Given the description of an element on the screen output the (x, y) to click on. 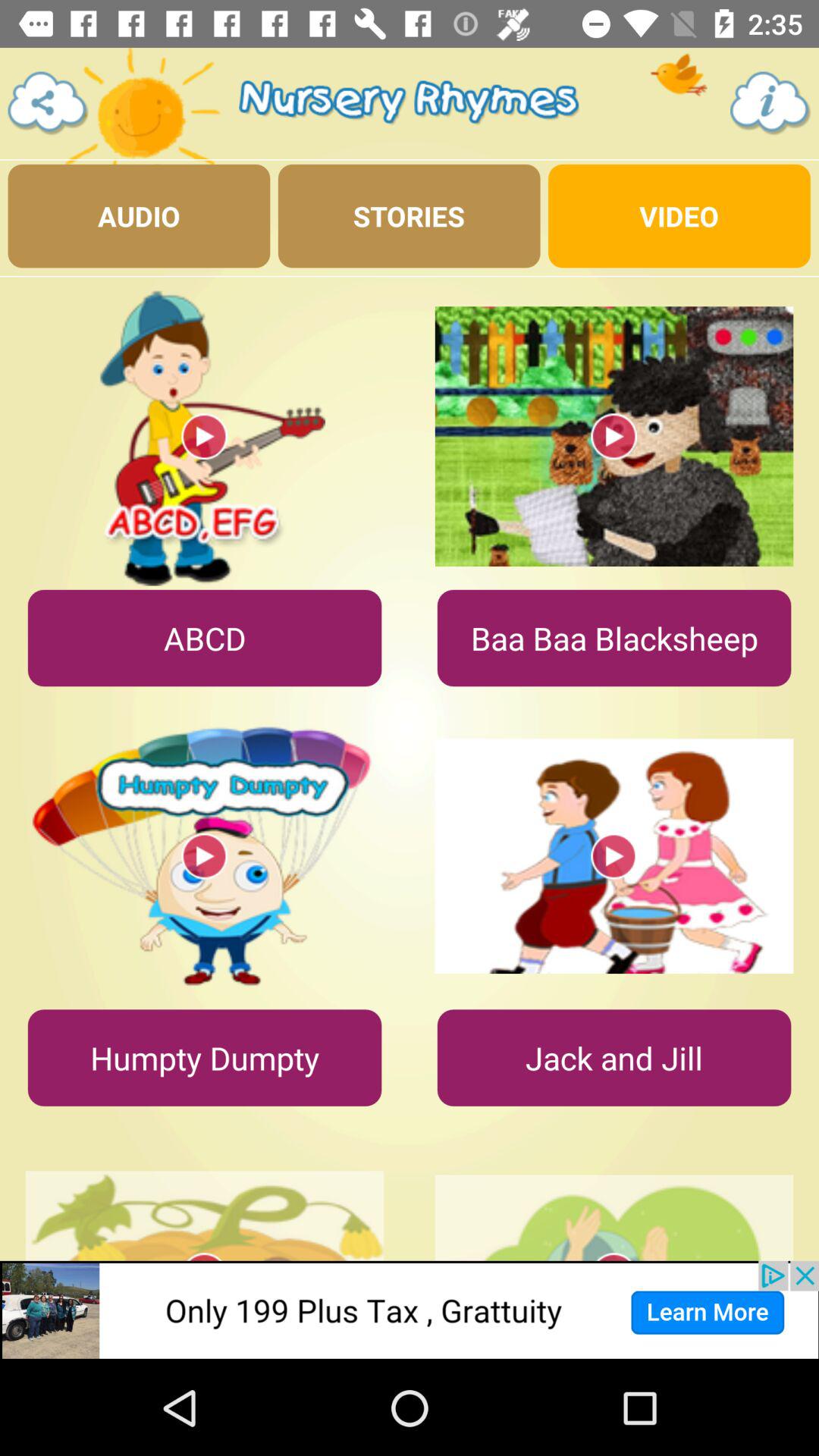
share the app (47, 103)
